Given the description of an element on the screen output the (x, y) to click on. 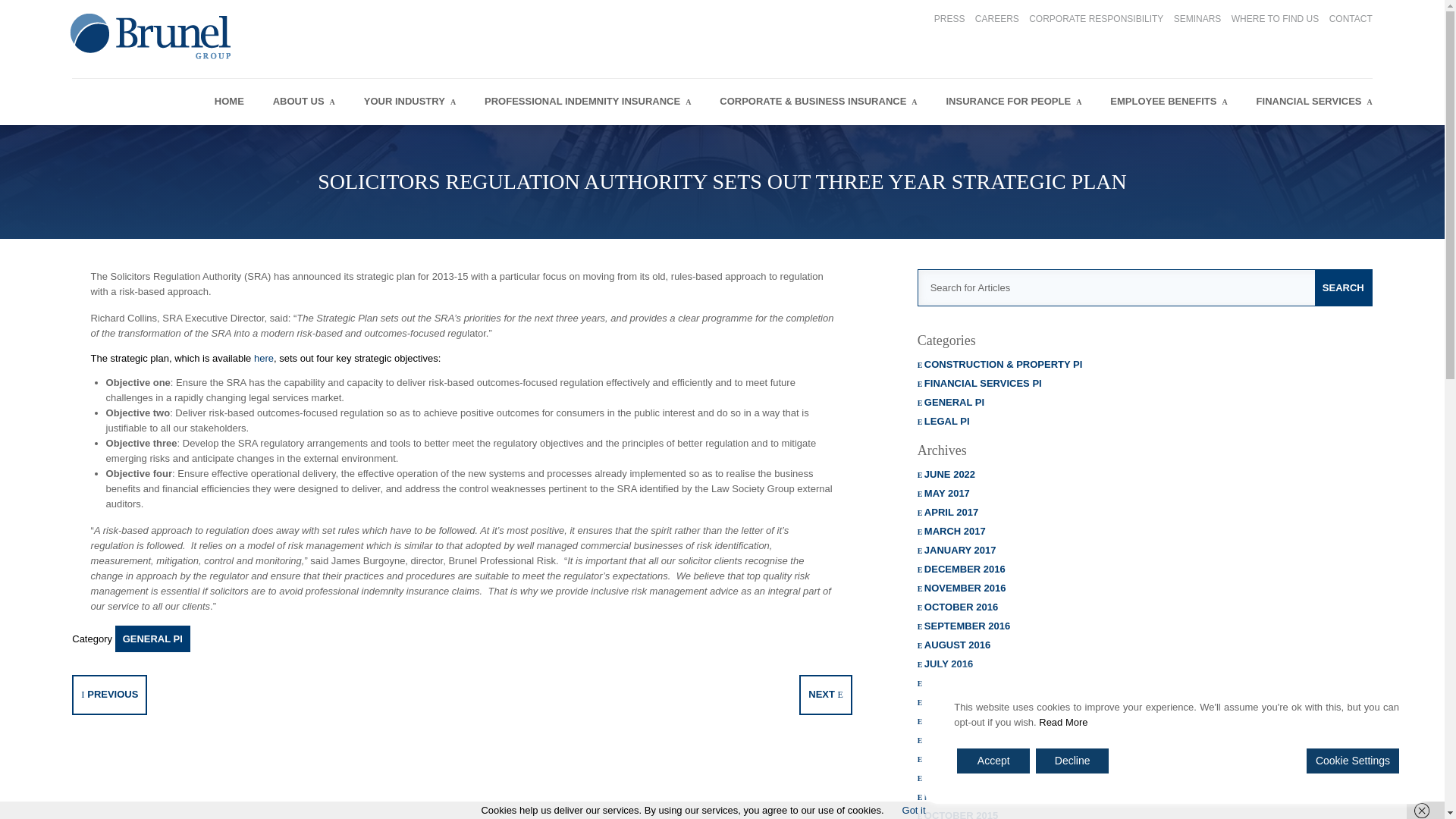
WHERE TO FIND US (1275, 18)
Return to homepage (151, 59)
CONTACT (1351, 18)
CAREERS (997, 18)
CORPORATE RESPONSIBILITY (1096, 18)
SEMINARS (1197, 18)
PRESS (949, 18)
ABOUT US (303, 101)
YOUR INDUSTRY (409, 101)
PROFESSIONAL INDEMNITY INSURANCE (587, 101)
Search (1342, 287)
